Given the description of an element on the screen output the (x, y) to click on. 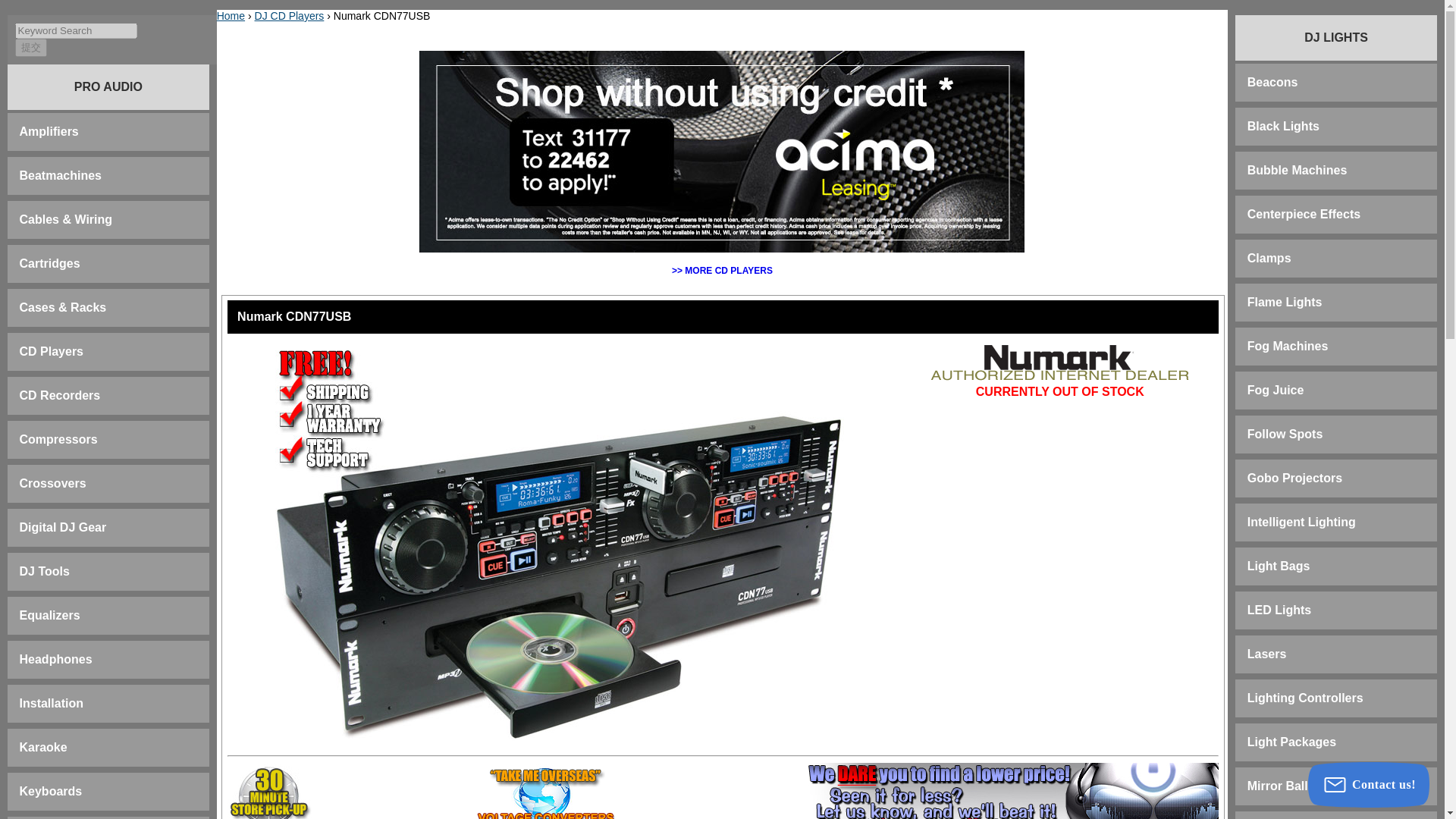
DJ Headphones (56, 658)
Cartridges (50, 263)
Amplifiers (49, 131)
Amplifiers (49, 131)
DJ Tools (44, 571)
DJ Tools (44, 571)
DJ CD Players (52, 350)
Beatmachines (60, 174)
Crossovers (52, 482)
Installation (51, 703)
Compressors (58, 439)
Equalizers (50, 615)
Digital DJ Gear (63, 526)
CD Recorders (60, 395)
Pro Intallation (51, 703)
